Given the description of an element on the screen output the (x, y) to click on. 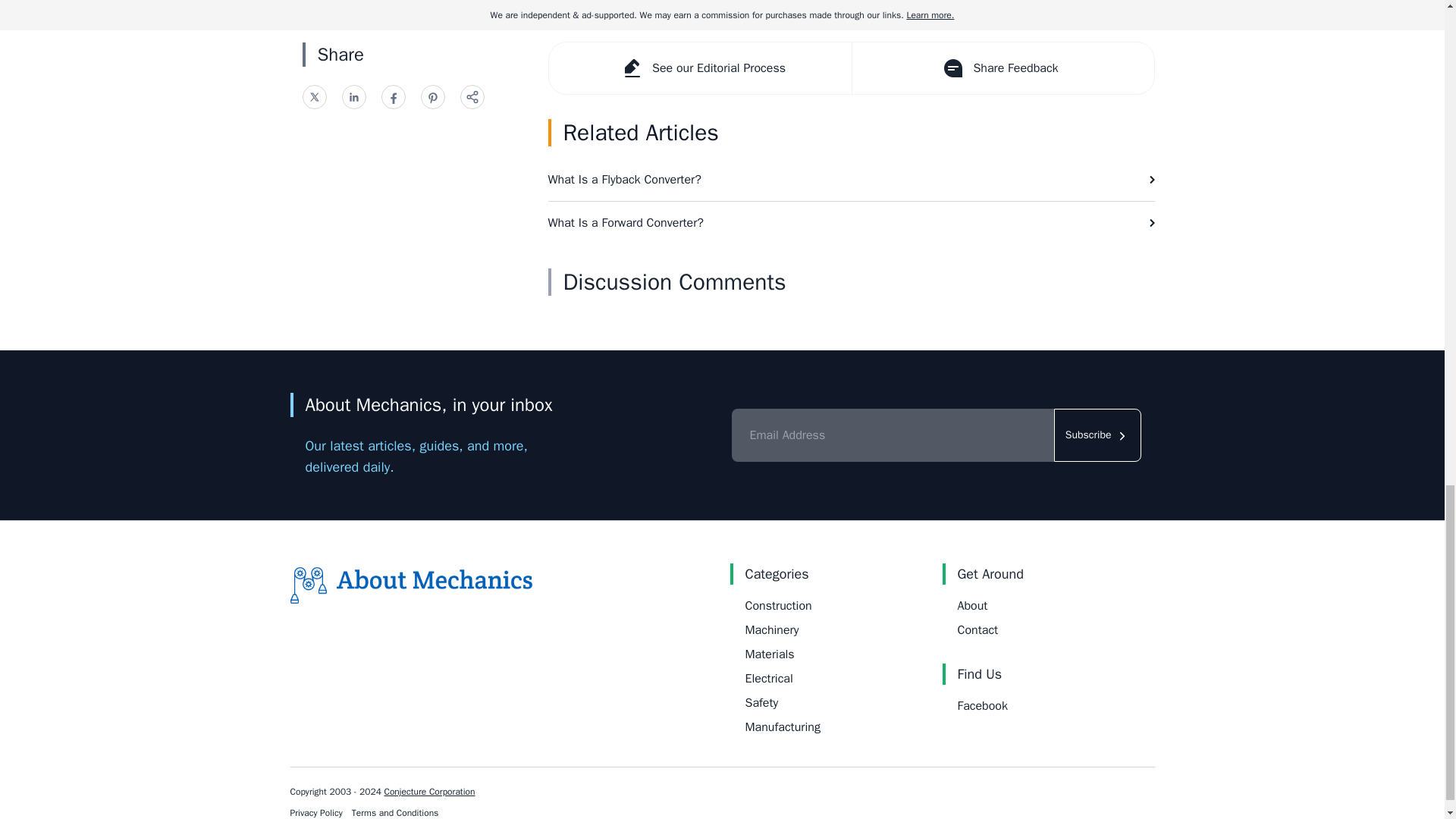
See our Editorial Process (699, 68)
Share Feedback (1001, 68)
What Is a Flyback Converter? (850, 179)
